Given the description of an element on the screen output the (x, y) to click on. 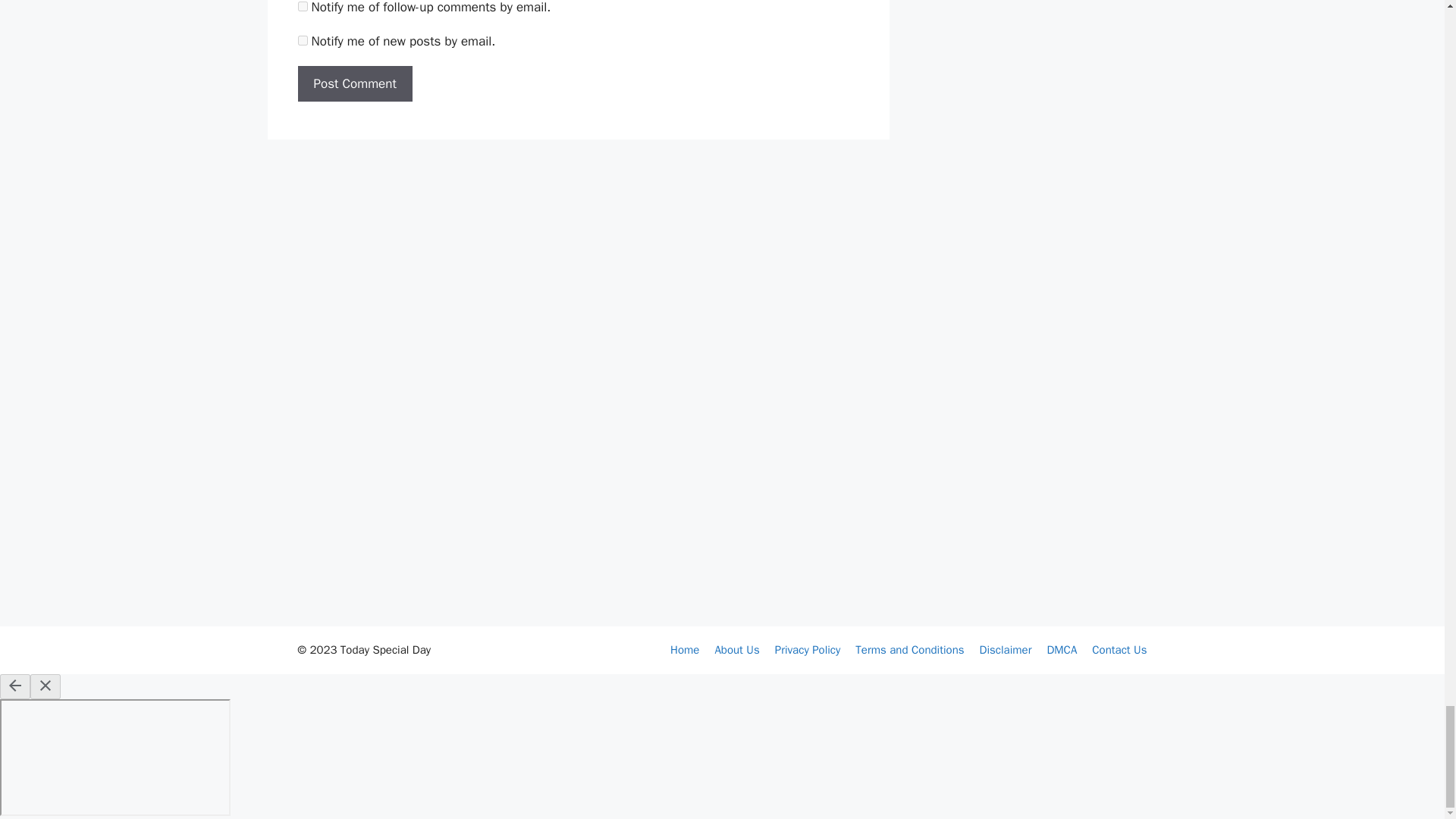
subscribe (302, 6)
subscribe (302, 40)
Post Comment (354, 84)
